Given the description of an element on the screen output the (x, y) to click on. 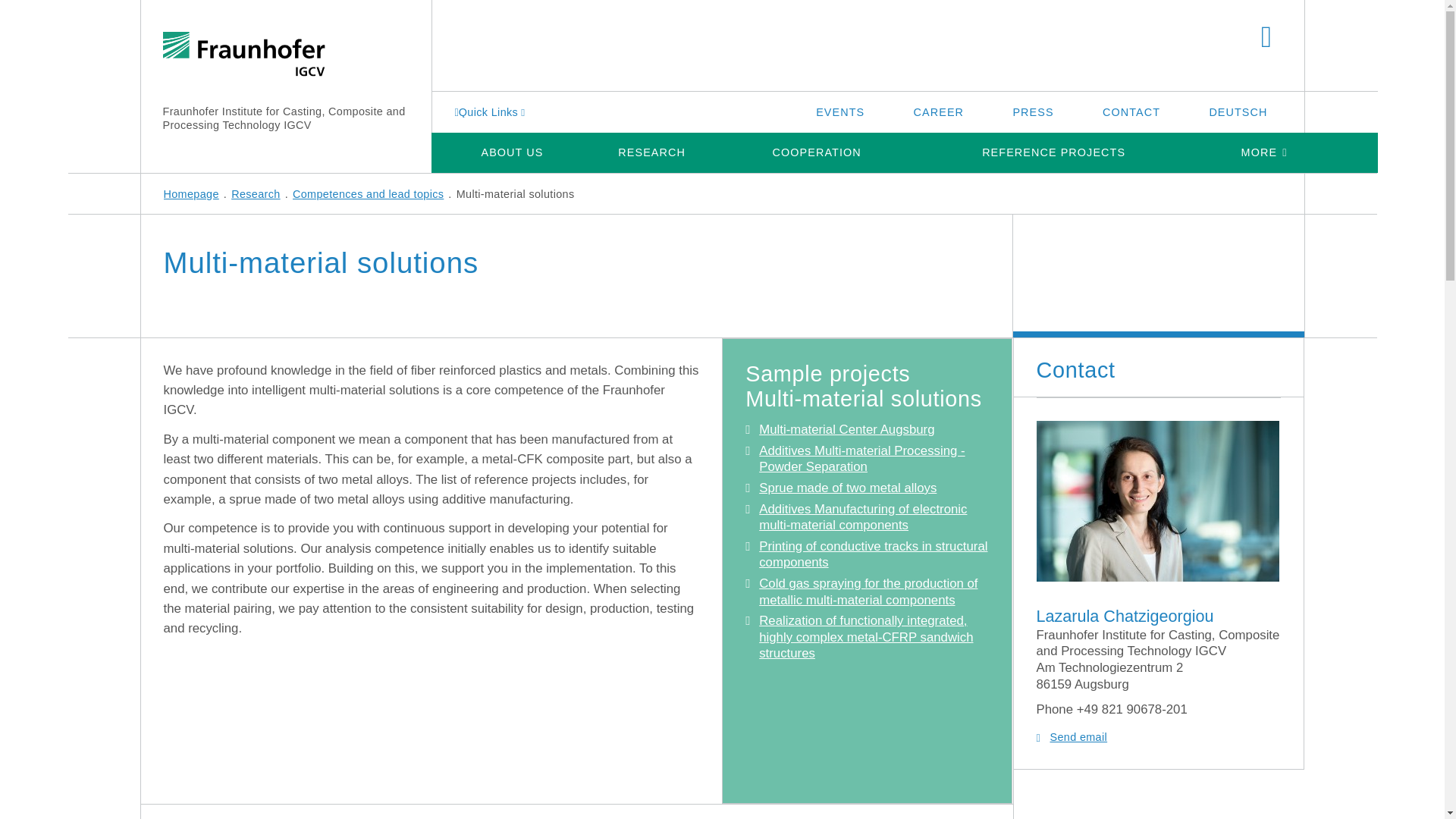
CAREER (939, 111)
DEUTSCH (1238, 111)
CONTACT (1131, 111)
EVENTS (839, 111)
Printing of conductive tracks in structural components (872, 554)
REFERENCE PROJECTS (1052, 151)
RESEARCH (651, 151)
ABOUT US (511, 151)
COOPERATION (816, 151)
Sprue made of two metal alloys (847, 487)
